Given the description of an element on the screen output the (x, y) to click on. 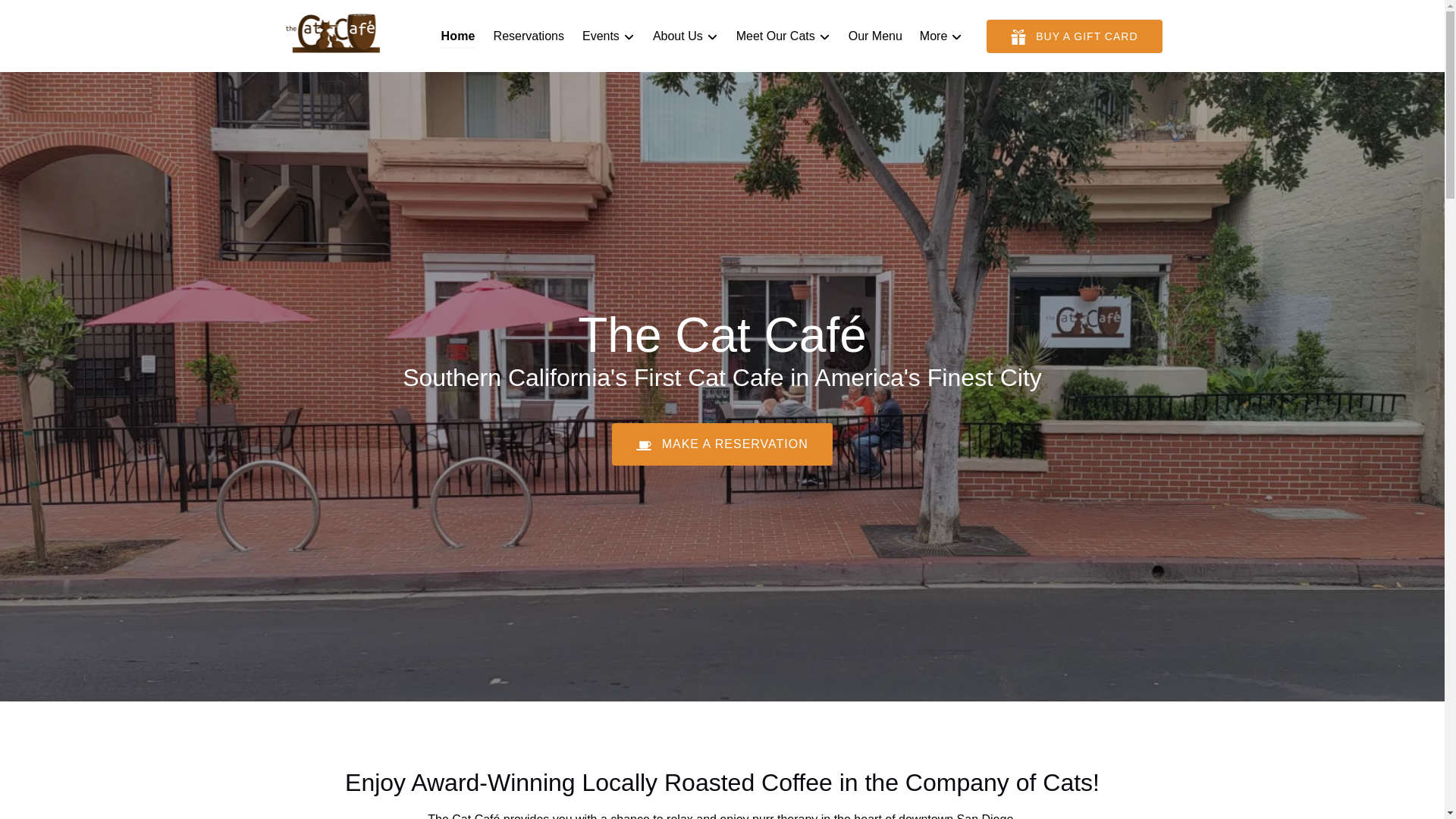
Skip to footer (42, 16)
Open More Menu (944, 32)
Events (608, 35)
COFFEE (643, 444)
Skip to primary navigation (77, 16)
Reservations (528, 35)
COFFEE MAKE A RESERVATION (721, 400)
Open Meet Our Cats Menu (787, 32)
GIFT BUY A GIFT CARD (1074, 36)
Open About Us Menu (688, 32)
